Given the description of an element on the screen output the (x, y) to click on. 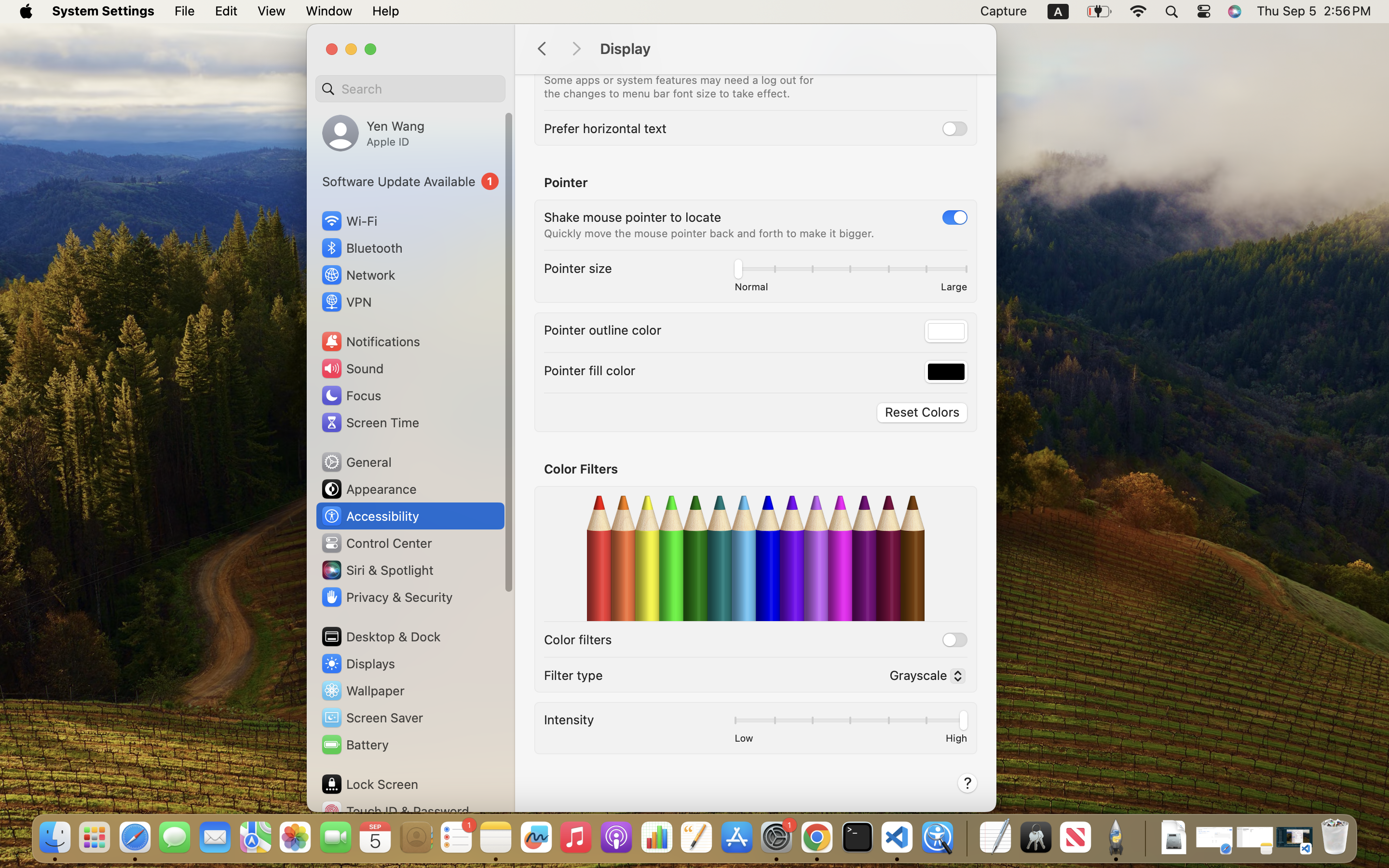
1 Element type: AXCheckBox (954, 217)
Touch ID & Password Element type: AXStaticText (394, 810)
Yen Wang, Apple ID Element type: AXStaticText (373, 132)
0.4285714328289032 Element type: AXDockItem (965, 837)
Desktop & Dock Element type: AXStaticText (380, 636)
